Given the description of an element on the screen output the (x, y) to click on. 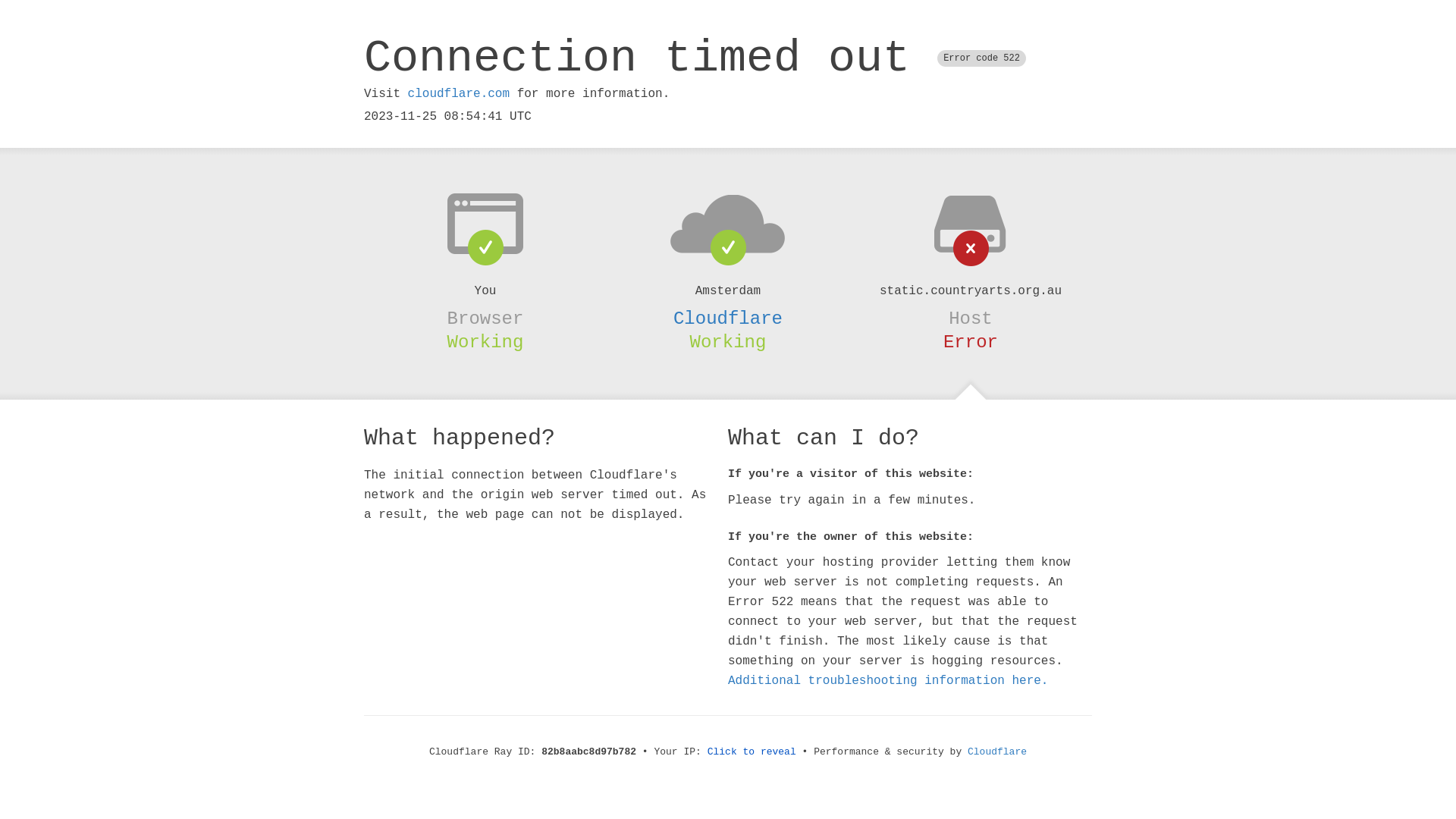
Additional troubleshooting information here. Element type: text (888, 680)
cloudflare.com Element type: text (458, 93)
Cloudflare Element type: text (996, 751)
Click to reveal Element type: text (751, 751)
Cloudflare Element type: text (727, 318)
